Given the description of an element on the screen output the (x, y) to click on. 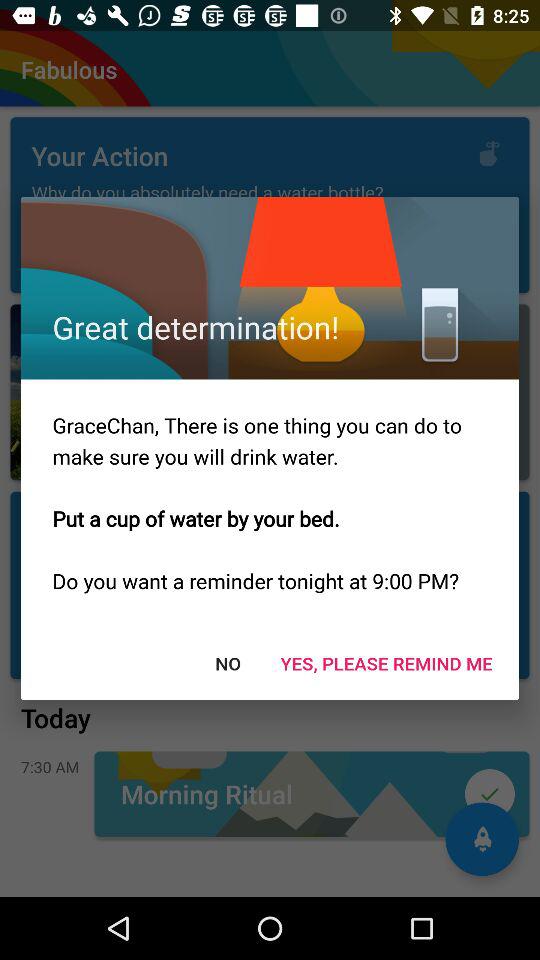
turn off the icon to the left of the yes please remind item (228, 662)
